Given the description of an element on the screen output the (x, y) to click on. 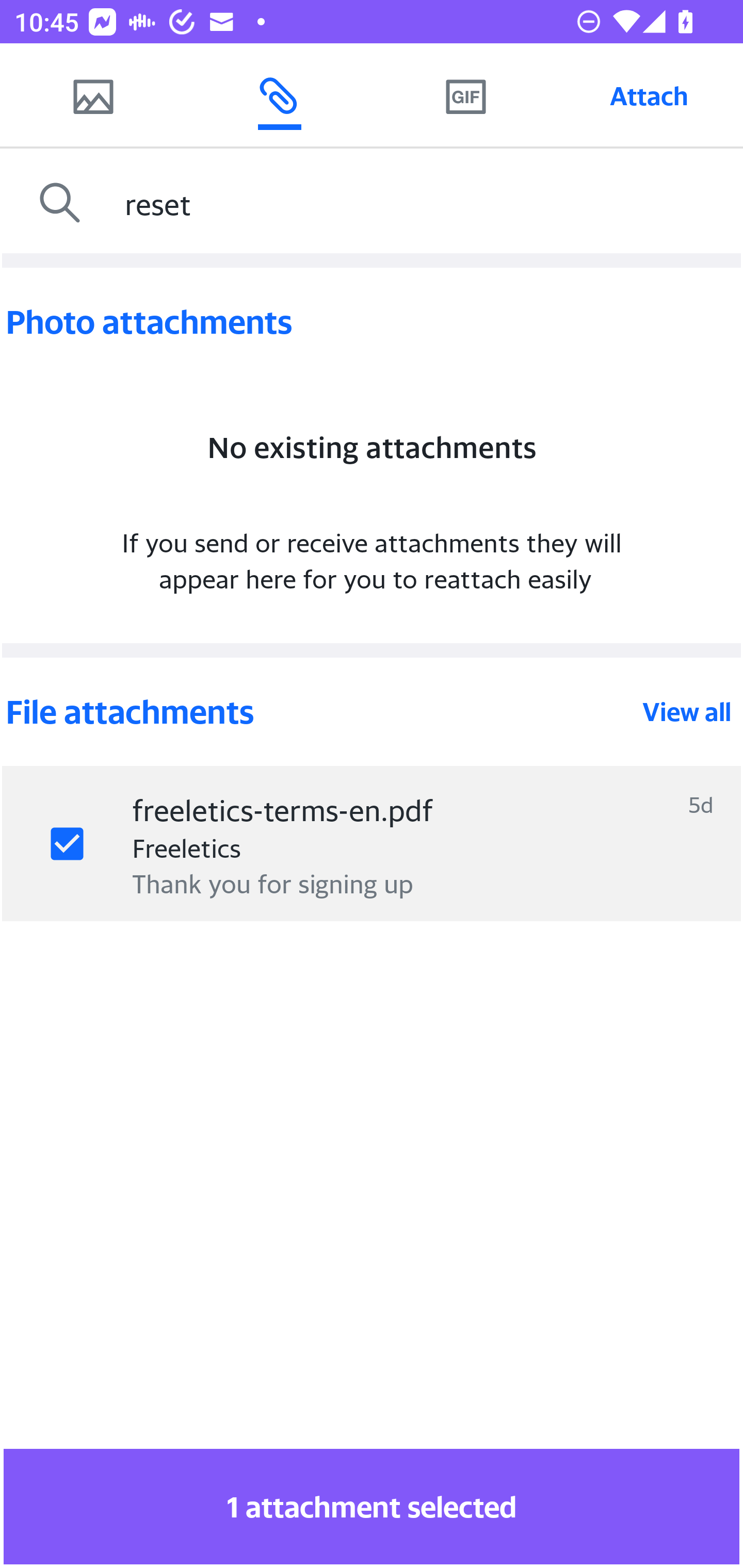
Camera photos (93, 95)
Recent attachments from mail (279, 95)
GIFs (465, 95)
Attach (649, 95)
reset (428, 203)
Photo attachments (371, 322)
File attachments (321, 711)
View all (686, 711)
1 attachment selected (371, 1506)
